Given the description of an element on the screen output the (x, y) to click on. 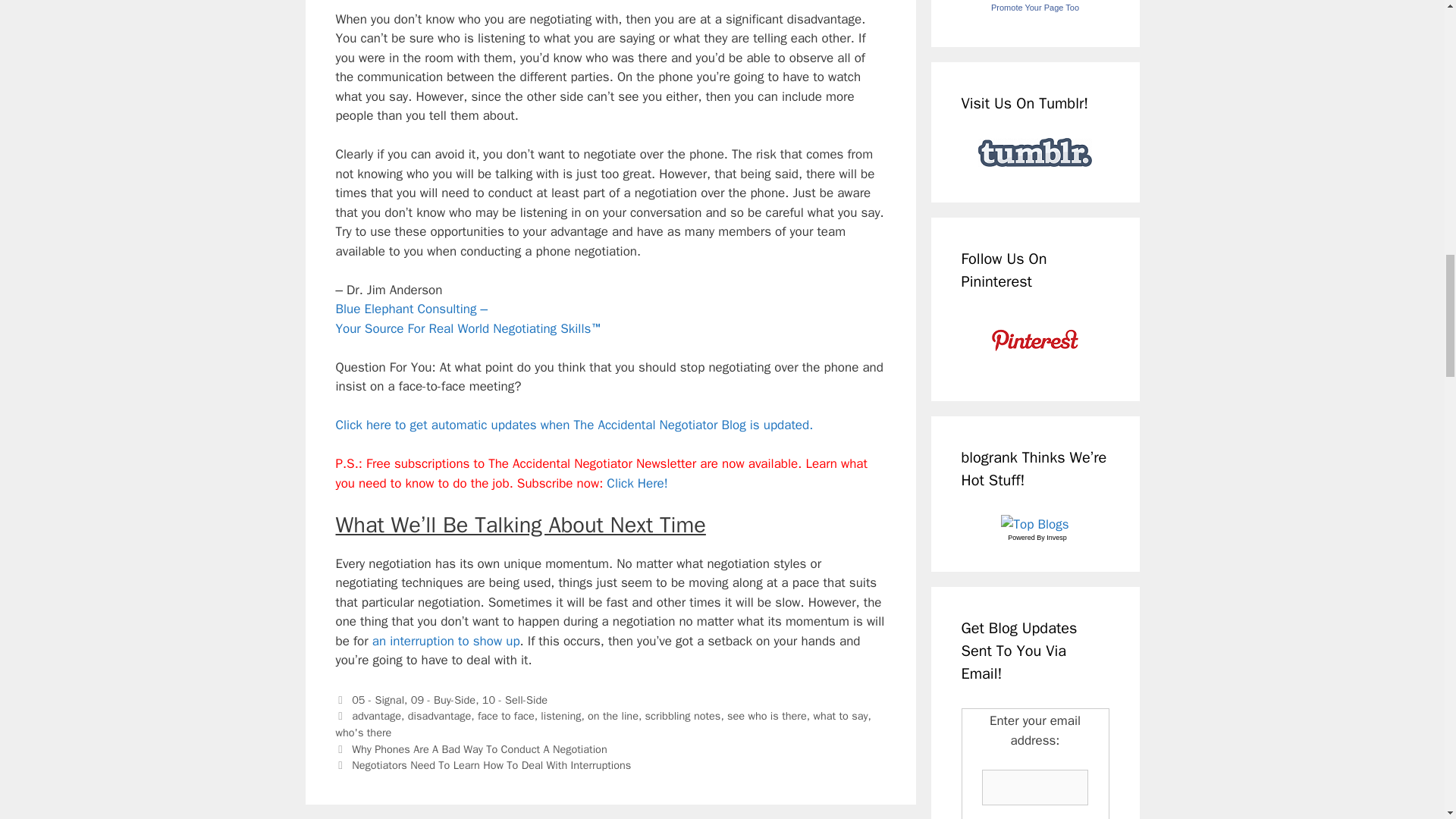
Subscribe to The Accidental Negotiator Newsletter (636, 483)
face to face (505, 715)
what to say (839, 715)
Negotiators Need To Learn How To Deal With Interruptions (491, 765)
Click Here! (636, 483)
scribbling notes (682, 715)
Subscribe to my feed (573, 424)
10 - Sell-Side (514, 699)
05 - Signal (378, 699)
